Given the description of an element on the screen output the (x, y) to click on. 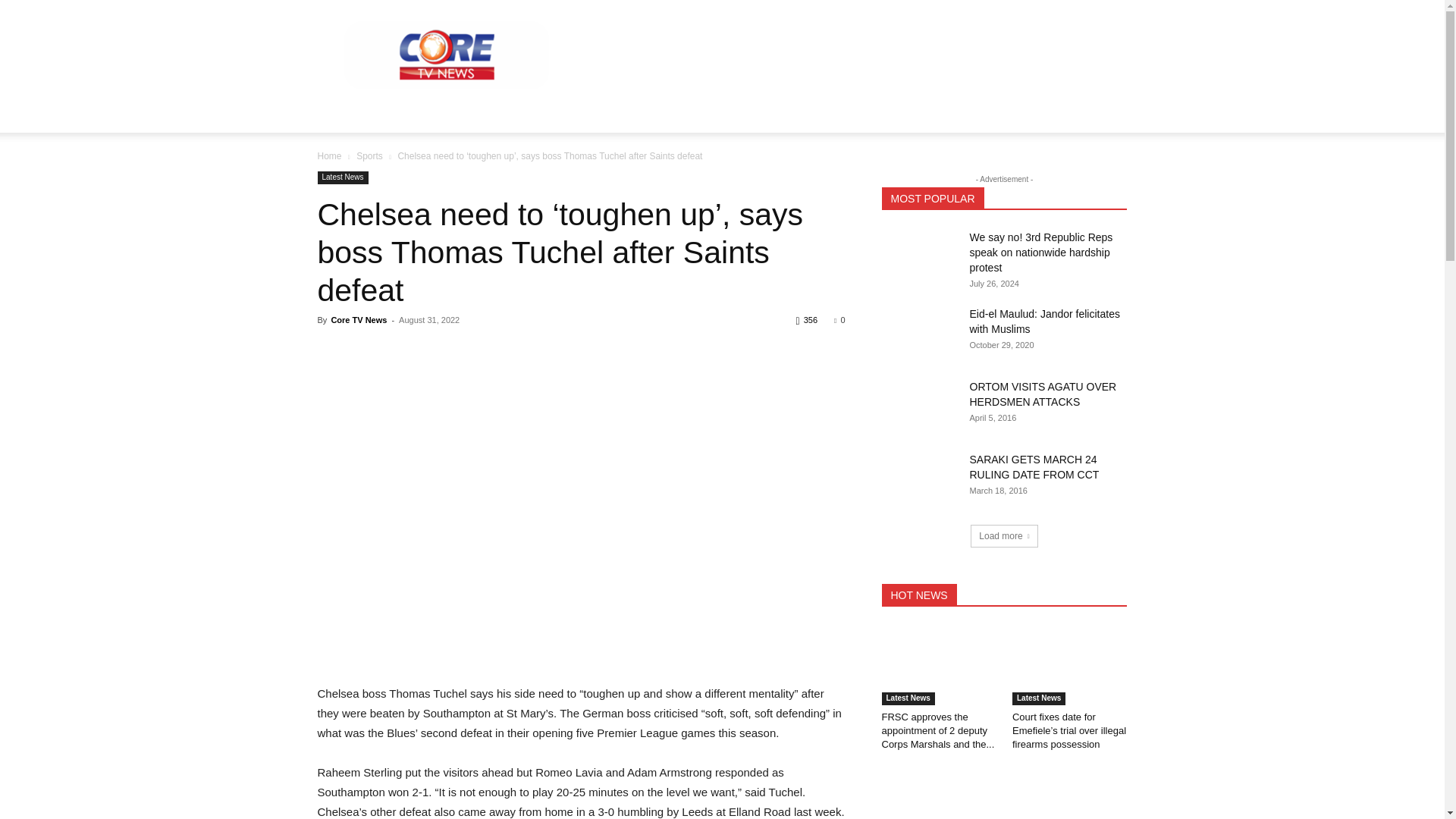
POLITICS (448, 114)
Core TV News (358, 319)
View all posts in Sports (369, 155)
Search (1085, 174)
Sports (369, 155)
0 (839, 319)
Home (328, 155)
SPORTS (721, 114)
METRO (589, 114)
LIVE TV (784, 114)
